Given the description of an element on the screen output the (x, y) to click on. 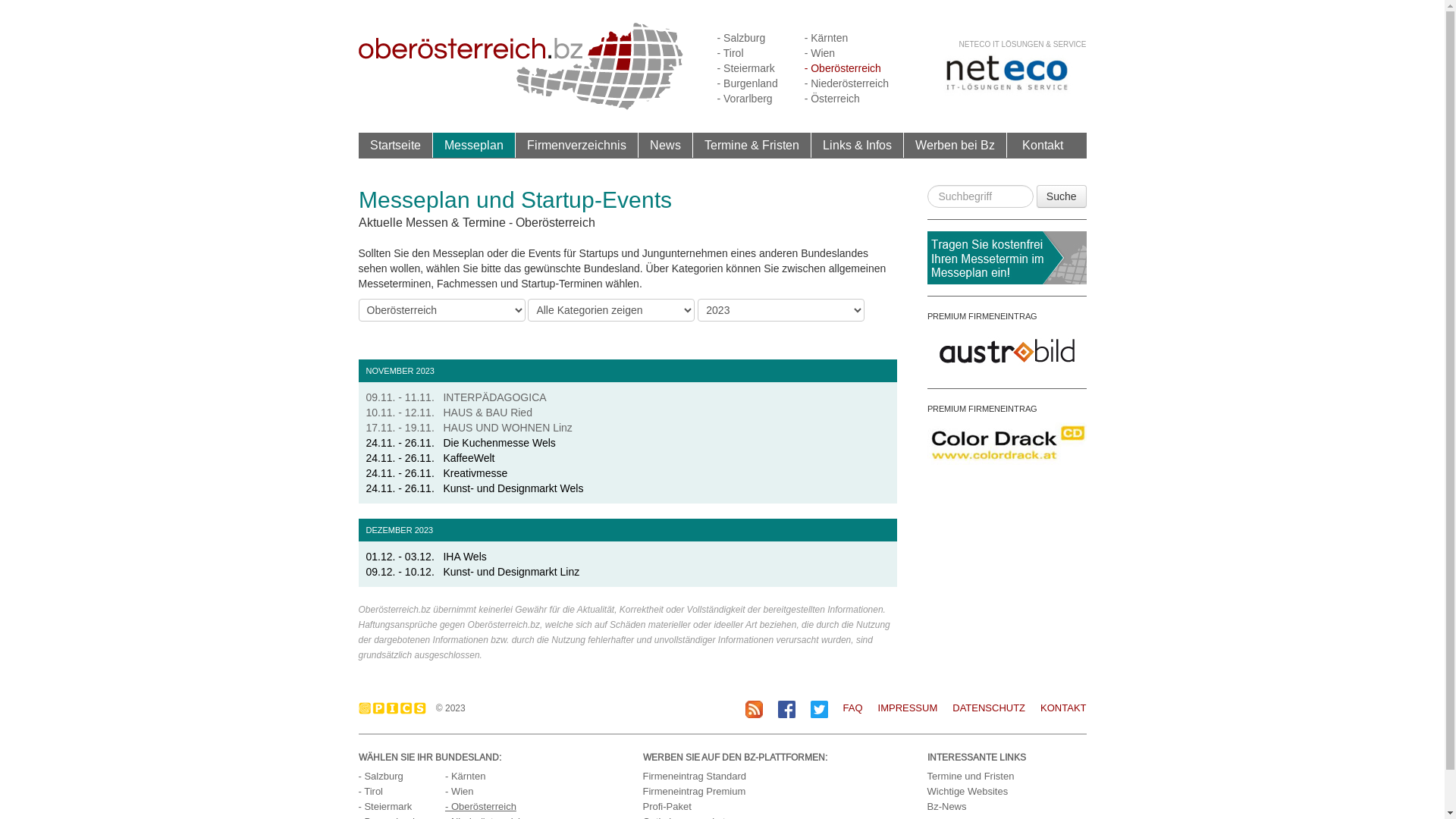
- Vorarlberg Element type: text (744, 98)
News Element type: text (665, 144)
BZ RSS-Feed Element type: hover (753, 709)
BZ auf Facebook Element type: hover (786, 709)
Links & Infos Element type: text (857, 144)
DATENSCHUTZ Element type: text (988, 707)
  Element type: text (358, 351)
10.11. - 12.11.   HAUS & BAU Ried Element type: text (448, 412)
Startseite Element type: text (395, 144)
KONTAKT Element type: text (1062, 707)
BZ auf Facebook Element type: hover (786, 708)
FAQ Element type: text (845, 707)
- Tirol Element type: text (730, 53)
Startseite Element type: text (394, 144)
Termine & Fristen Element type: text (750, 144)
- Wien Element type: text (819, 53)
- Salzburg Element type: text (741, 37)
Werben bei Bz Element type: text (954, 144)
Firmenverzeichnis Element type: text (575, 144)
- Steiermark Element type: text (746, 68)
Werben bei Bz Element type: text (955, 144)
IMPRESSUM Element type: text (900, 707)
Firmenverzeichnis Element type: text (576, 144)
PREMIUM FIRMENEINTRAG Element type: text (981, 408)
Messeplan Element type: text (473, 144)
Kontakt Element type: text (1042, 144)
- Wien Element type: text (459, 791)
Suche Element type: text (1061, 196)
Messeplan Element type: text (473, 144)
News Element type: text (664, 144)
24.11. - 26.11.   Die Kuchenmesse Wels Element type: text (460, 442)
- Steiermark Element type: text (384, 806)
- Salzburg Element type: text (379, 775)
24.11. - 26.11.   KaffeeWelt Element type: text (429, 457)
Termine & Fristen Element type: text (752, 144)
BZ auf Twitter Element type: hover (818, 709)
Bz-News Element type: text (946, 806)
Wichtige Websites Element type: text (966, 791)
FAQ Element type: text (852, 707)
09.12. - 10.12.   Kunst- und Designmarkt Linz Element type: text (472, 571)
DATENSCHUTZ Element type: text (981, 707)
IMPRESSUM Element type: text (908, 707)
BZ auf Twitter Element type: hover (818, 708)
17.11. - 19.11.   HAUS UND WOHNEN Linz Element type: text (468, 427)
Firmeneintrag Standard Element type: text (694, 775)
24.11. - 26.11.   Kreativmesse Element type: text (436, 473)
Zum Premium-Firmeneintrag von AustroBild.at Element type: hover (1005, 349)
Kontakt Element type: text (1042, 144)
24.11. - 26.11.   Kunst- und Designmarkt Wels Element type: text (474, 488)
RSS-Feed Abonnieren Element type: hover (753, 708)
Termine und Fristen Element type: text (969, 775)
Links & Infos Element type: text (856, 144)
KONTAKT Element type: text (1055, 707)
01.12. - 03.12.   IHA Wels Element type: text (425, 556)
- Burgenland Element type: text (747, 83)
PREMIUM FIRMENEINTRAG Element type: text (981, 315)
Firmeneintrag Premium Element type: text (694, 791)
- Tirol Element type: text (369, 791)
Profi-Paket Element type: text (667, 806)
